Given the description of an element on the screen output the (x, y) to click on. 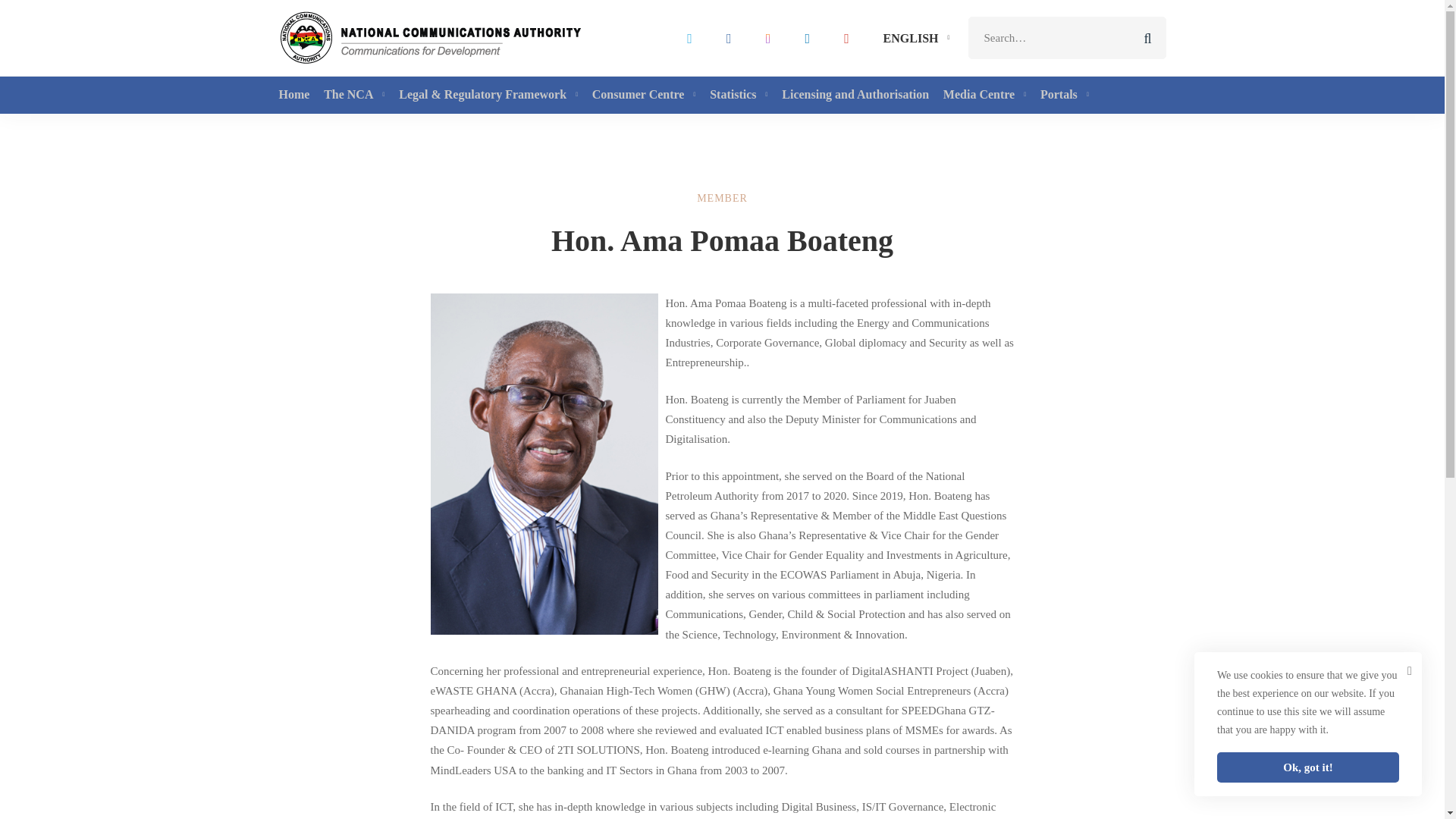
ENGLISH (913, 38)
Search for: (1067, 37)
I agree to receive occasional information from the NCA. (903, 669)
The NCA (355, 94)
Home (298, 94)
Consumer Centre (645, 94)
Subscribe (930, 729)
